Given the description of an element on the screen output the (x, y) to click on. 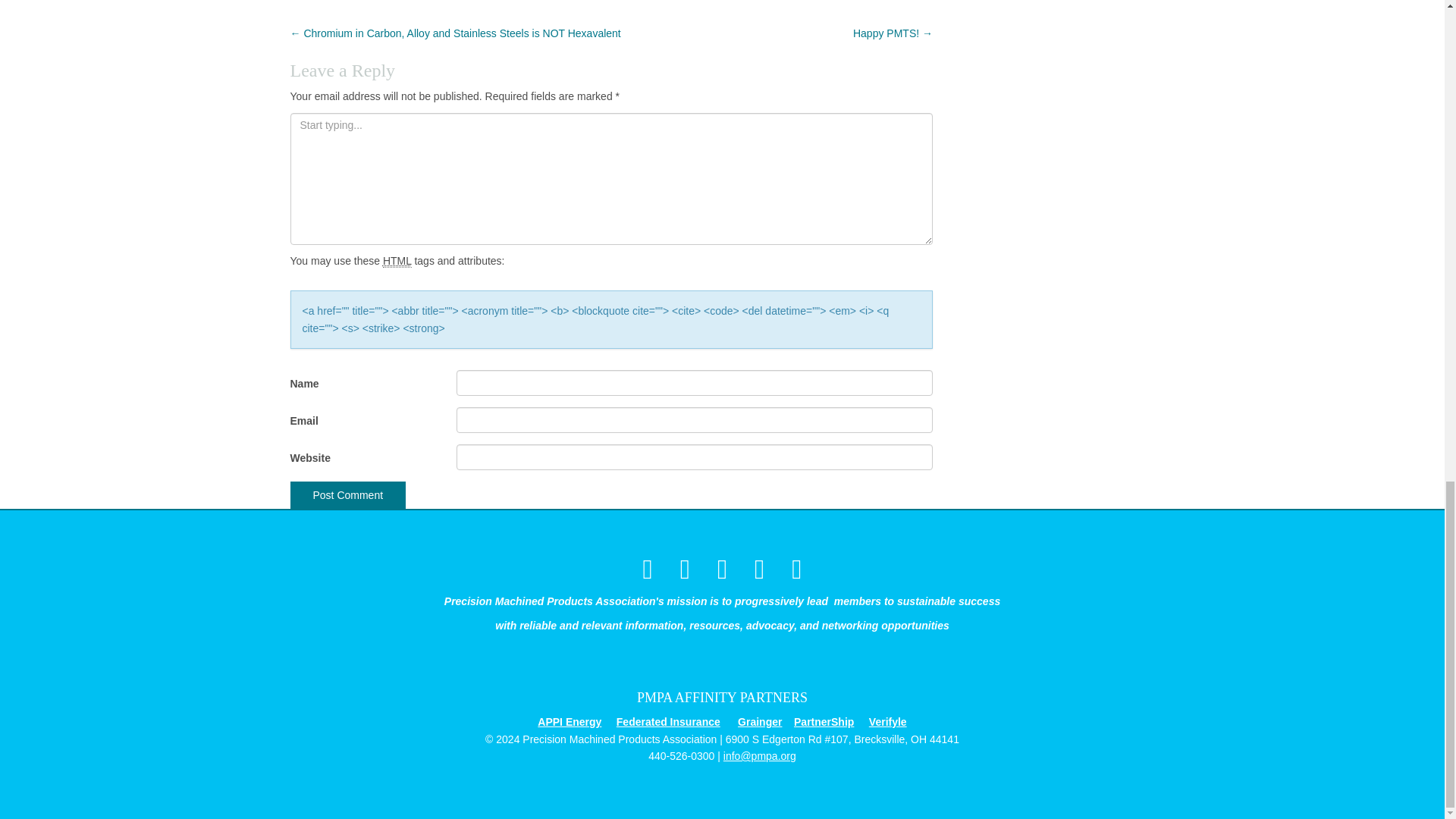
Post Comment (347, 494)
HyperText Markup Language (397, 260)
